Given the description of an element on the screen output the (x, y) to click on. 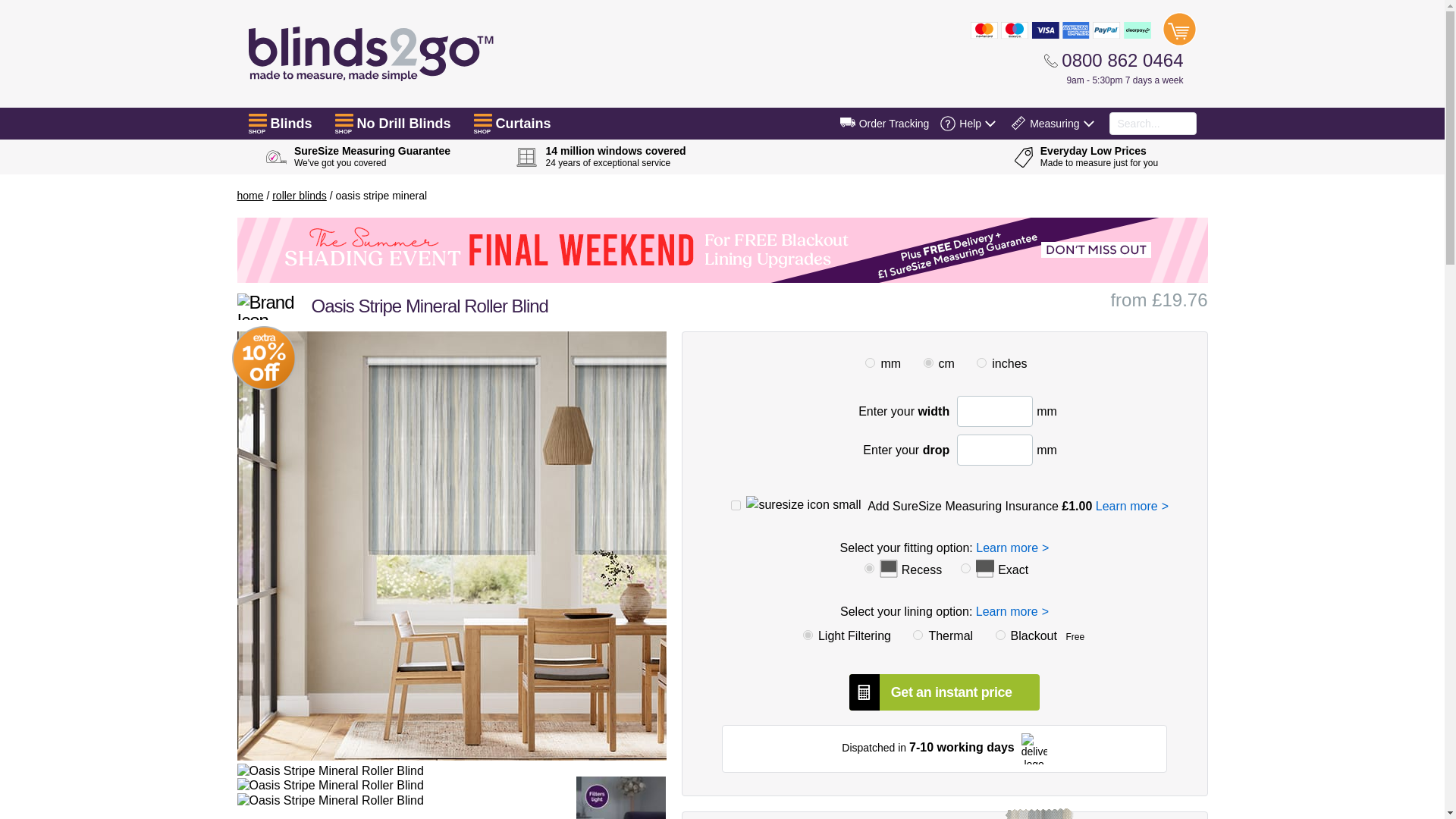
0800 862 0464 (1112, 60)
burger icon (257, 119)
white down arrow icon (1088, 122)
on (735, 505)
2 (981, 362)
3 (928, 362)
E (965, 568)
white down arrow icon (990, 122)
469 (917, 634)
468 (1000, 634)
